Given the description of an element on the screen output the (x, y) to click on. 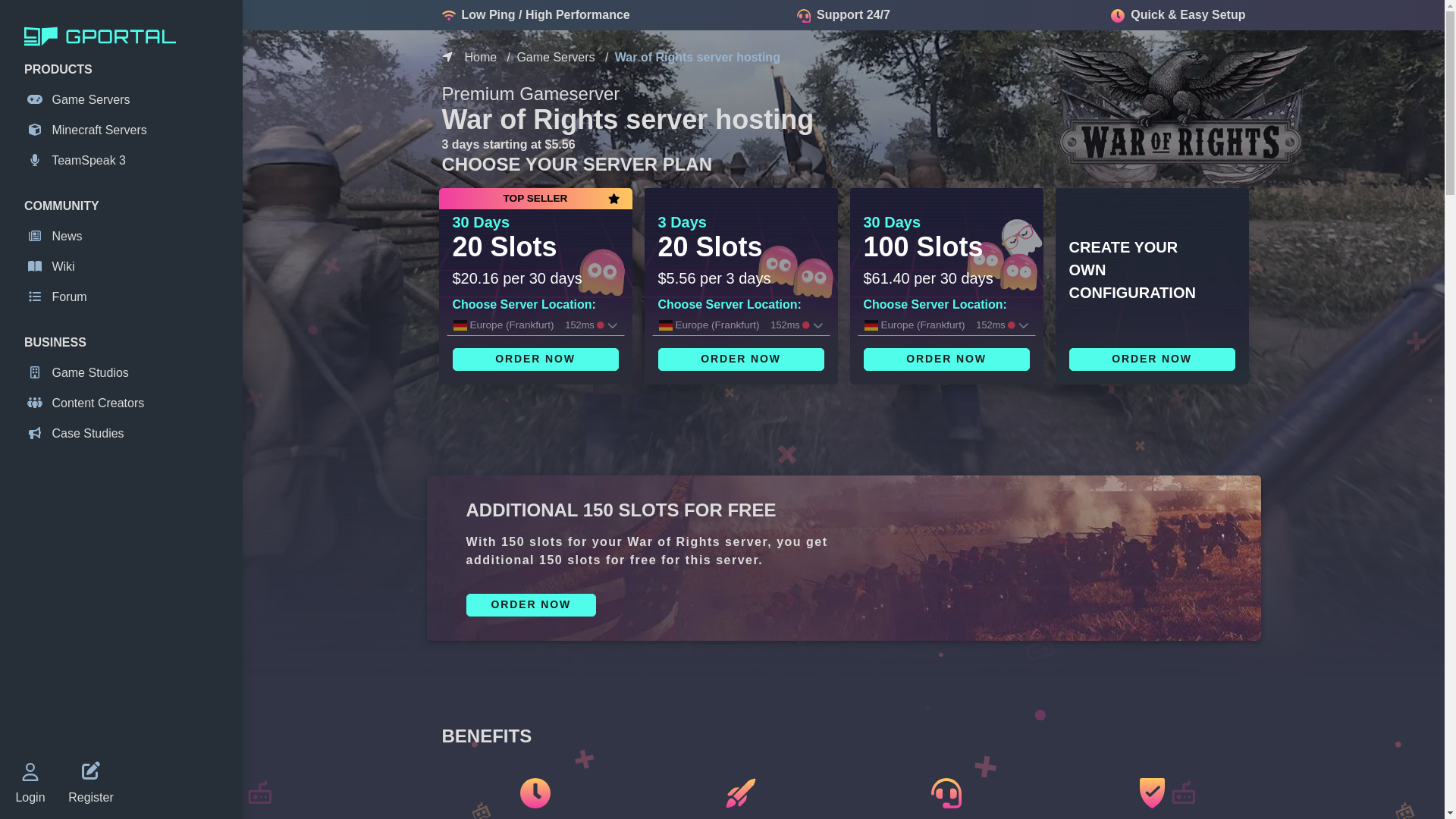
Game Servers (124, 99)
Game Servers (555, 56)
ORDER NOW (530, 604)
Home (480, 56)
Wiki (124, 266)
News (124, 236)
Case Studies (124, 433)
Forum (124, 297)
Content Creators (124, 403)
Game Studios (124, 372)
ORDER NOW (1151, 359)
ORDER NOW (741, 359)
TeamSpeak 3 (124, 160)
ORDER NOW (534, 359)
Minecraft Servers (124, 129)
